Given the description of an element on the screen output the (x, y) to click on. 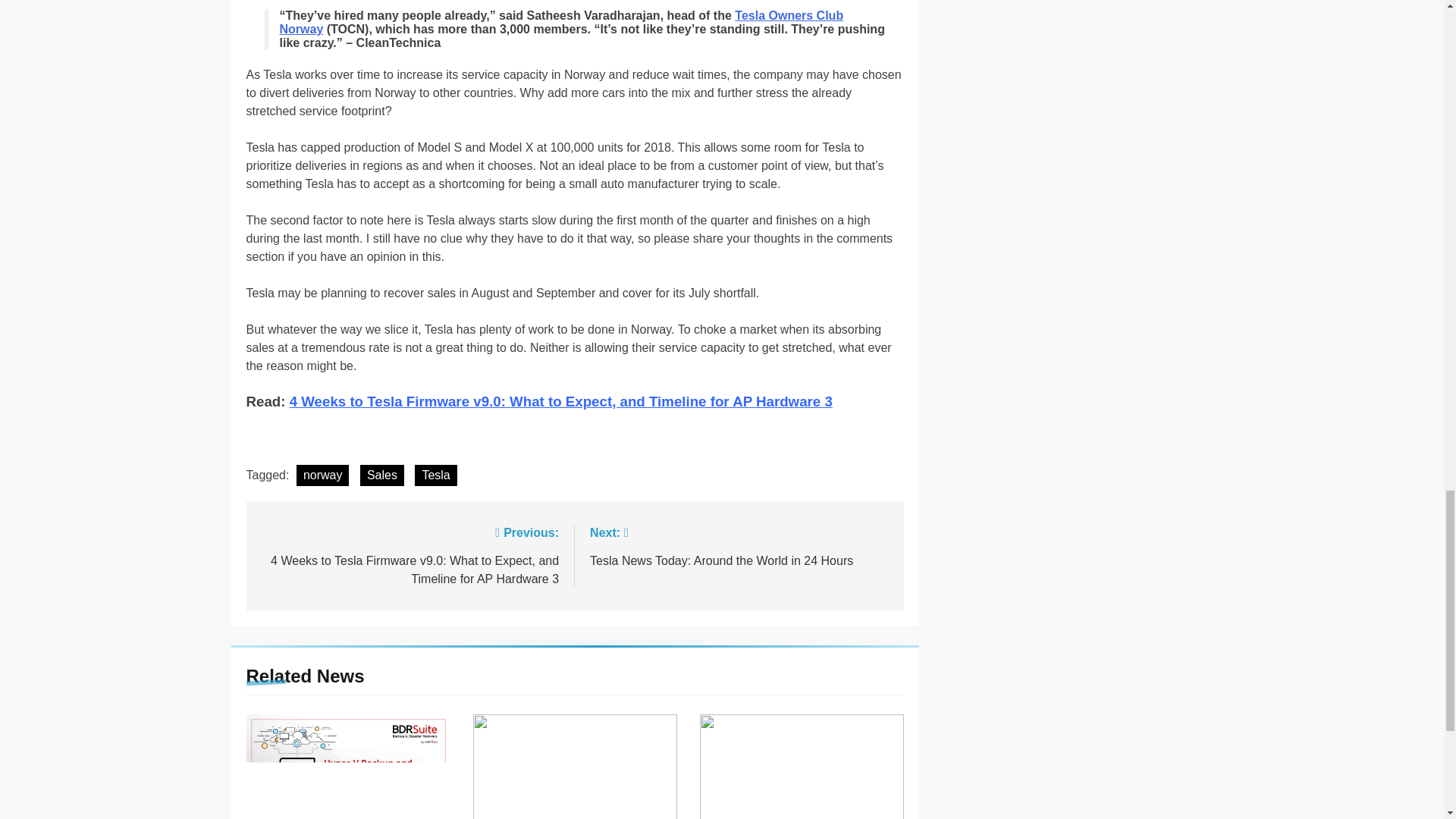
Tesla Owners Club Norway (561, 22)
